Given the description of an element on the screen output the (x, y) to click on. 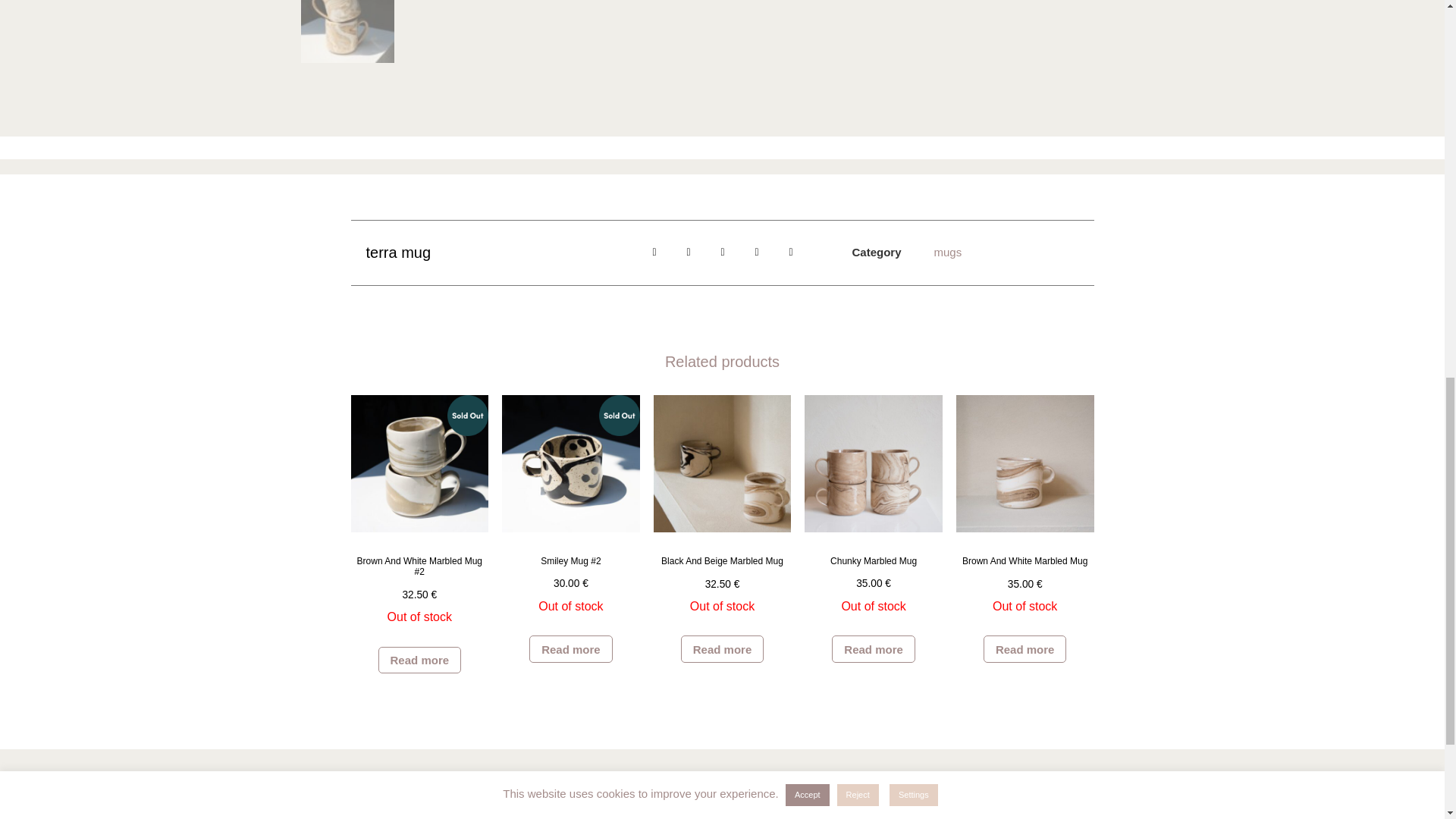
mugs (946, 251)
Read more (570, 648)
Read more (419, 660)
Read more (722, 648)
